Given the description of an element on the screen output the (x, y) to click on. 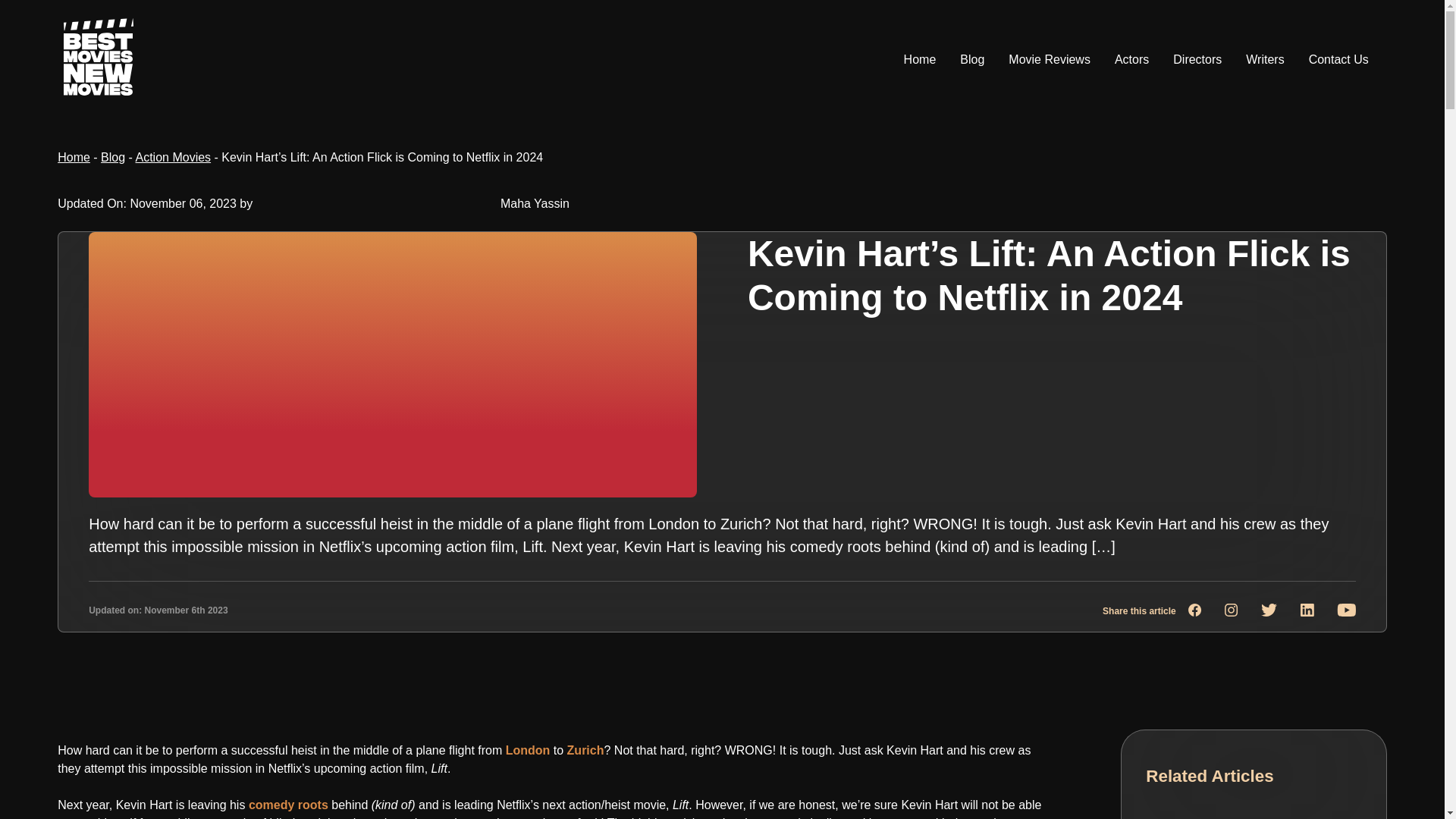
Movie Reviews (1049, 59)
Directors (1197, 59)
Home (74, 156)
Contact Us (1338, 59)
Zurich (585, 749)
London (527, 749)
Action Movies (173, 156)
Home (920, 59)
comedy roots (288, 804)
Writers (1265, 59)
